Given the description of an element on the screen output the (x, y) to click on. 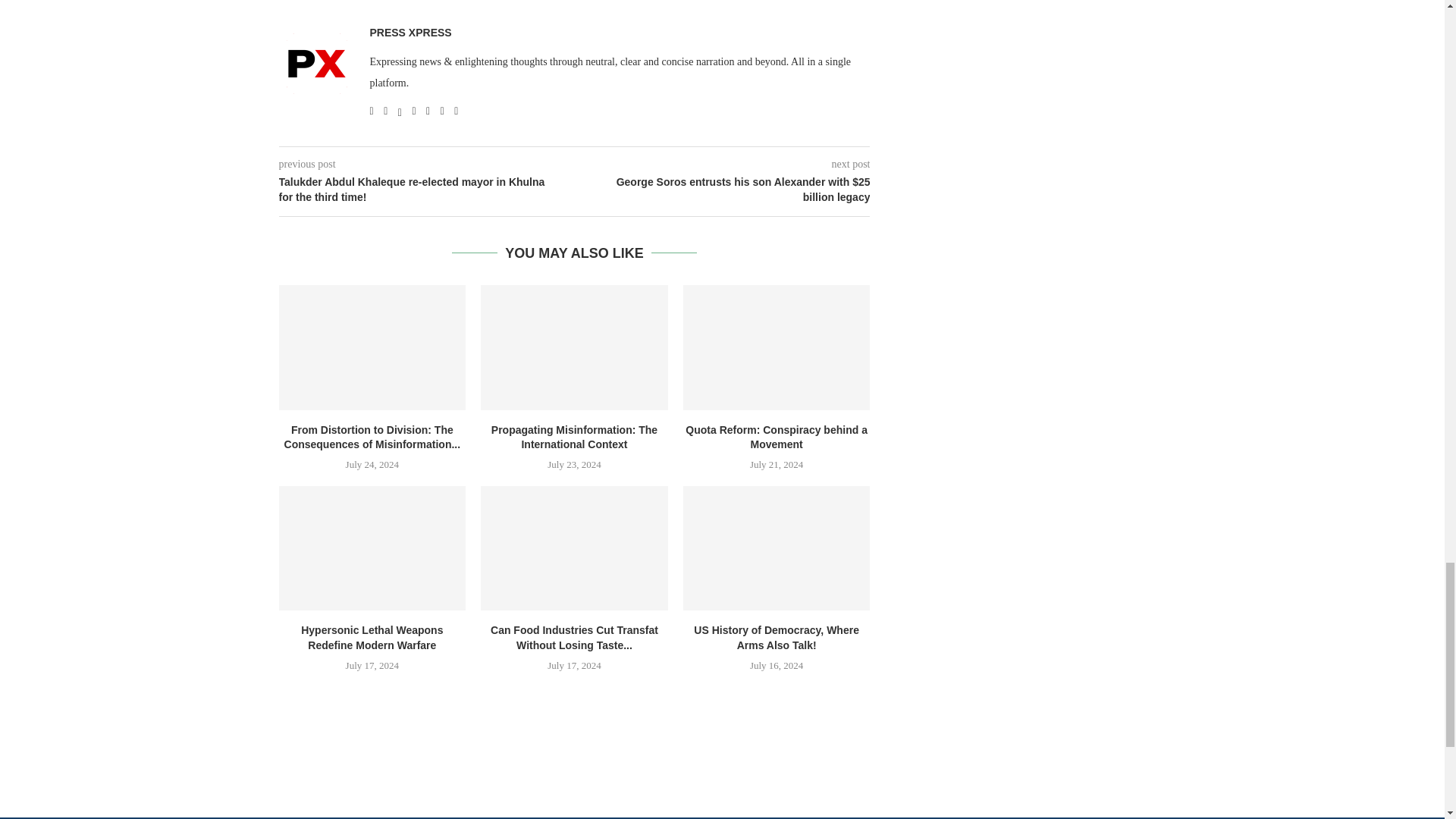
Propagating Misinformation: The International Context (574, 347)
Quota Reform: Conspiracy behind a Movement (776, 347)
US History of Democracy, Where Arms Also Talk! (776, 548)
Hypersonic Lethal Weapons Redefine Modern Warfare (372, 548)
Author Press Xpress (410, 32)
